Given the description of an element on the screen output the (x, y) to click on. 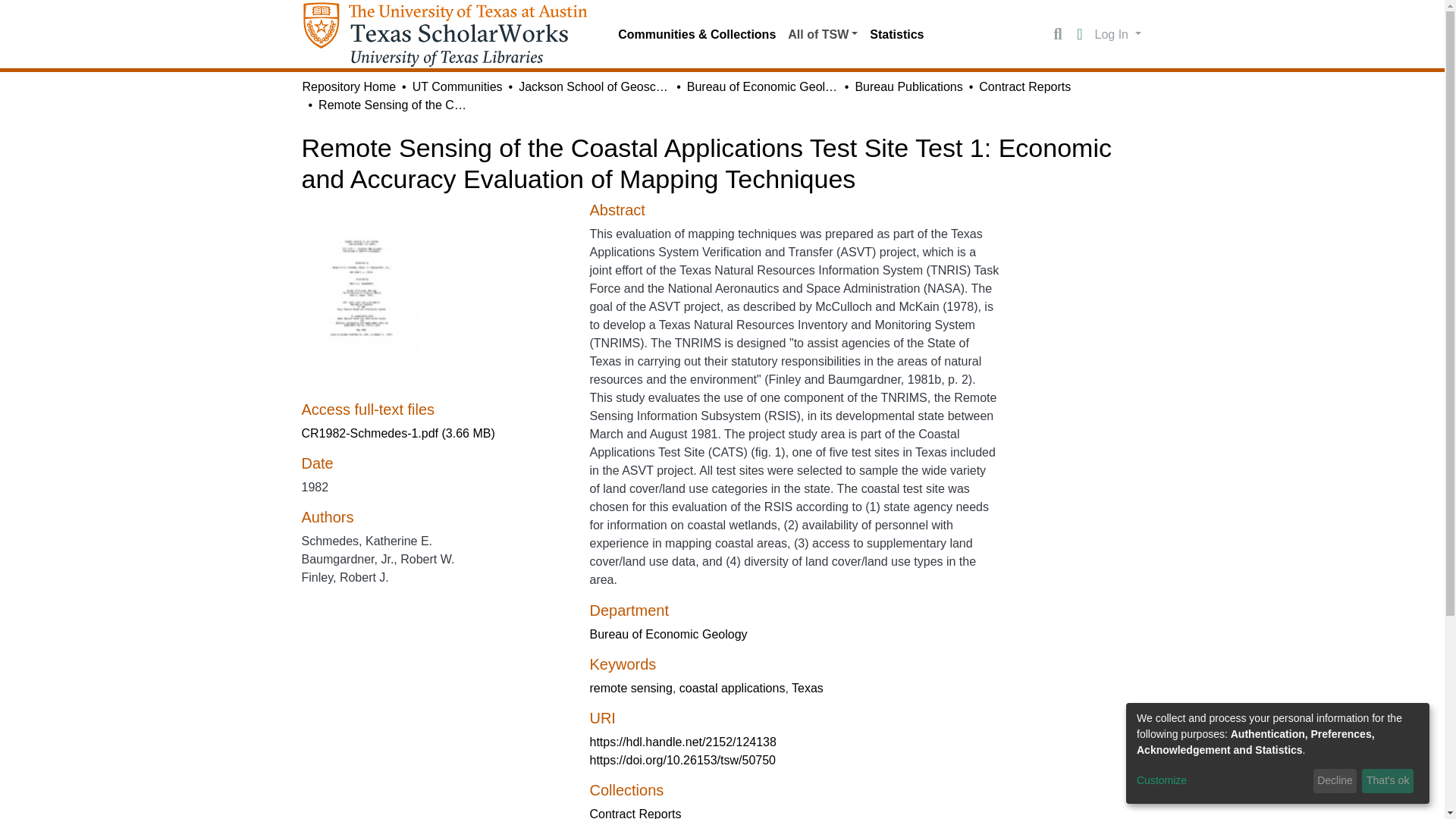
Search (1057, 34)
Language switch (1079, 34)
Log In (1117, 33)
Repository Home (348, 86)
Contract Reports (1024, 86)
remote sensing (630, 687)
Jackson School of Geosciences (593, 86)
All of TSW (822, 34)
coastal applications (732, 687)
Bureau of Economic Geology (667, 634)
Bureau Publications (908, 86)
Texas (808, 687)
Contract Reports (635, 813)
UT Communities (457, 86)
Statistics (896, 34)
